Given the description of an element on the screen output the (x, y) to click on. 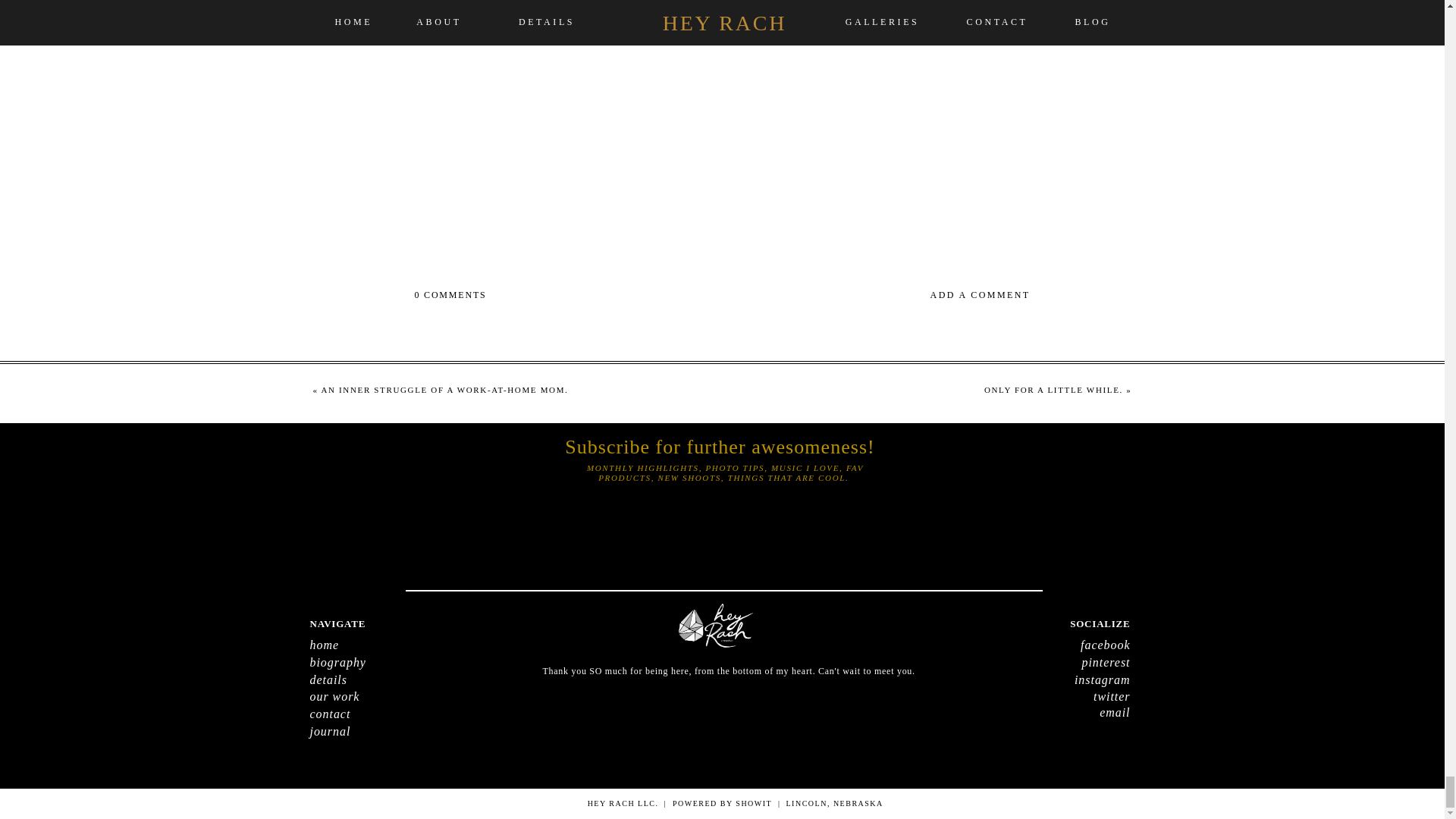
pinterest (1041, 662)
twitter (1041, 695)
our work (397, 695)
LINCOLN, NEBRASKA (984, 804)
home (397, 644)
instagram (1041, 679)
biography (397, 662)
journal (397, 730)
email (1041, 712)
ADD A COMMENT (883, 295)
facebook (1041, 644)
ONLY FOR A LITTLE WHILE. (1053, 388)
0 COMMENTS (449, 294)
contact (397, 713)
AN INNER STRUGGLE OF A WORK-AT-HOME MOM. (443, 388)
